Given the description of an element on the screen output the (x, y) to click on. 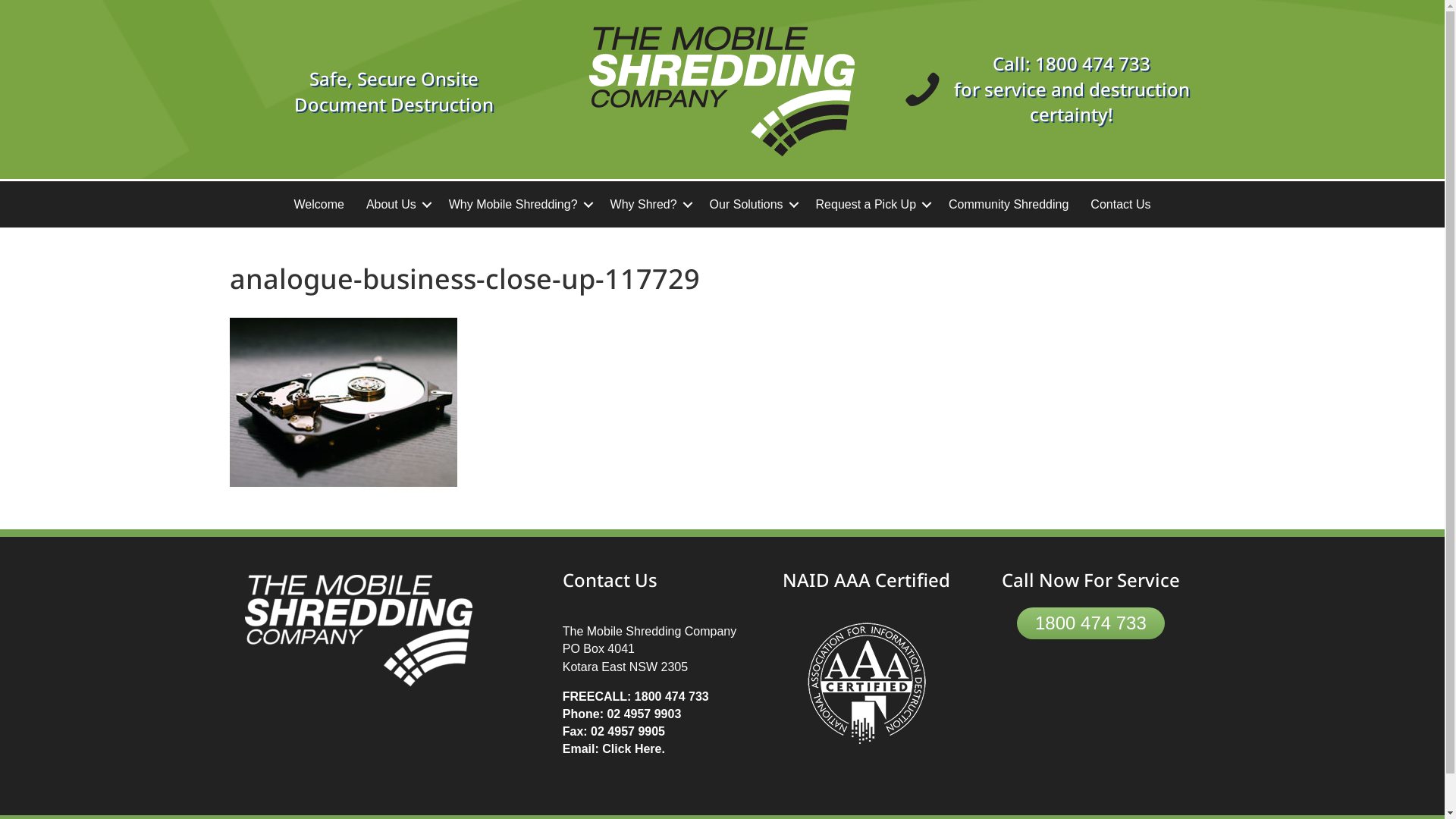
Community Shredding Element type: text (1008, 204)
1800 474 733 Element type: text (1090, 623)
msc-logo-white Element type: hover (357, 630)
Welcome Element type: text (318, 204)
Contact Us Element type: text (1120, 204)
Request a Pick Up Element type: text (871, 204)
02 4957 9903 Element type: text (643, 713)
Click Here. Element type: text (633, 748)
msc-logo Element type: hover (721, 91)
Why Mobile Shredding? Element type: text (518, 204)
1800 474 733 Element type: text (671, 696)
About Us Element type: text (396, 204)
Our Solutions Element type: text (751, 204)
NAID-AAA-CertLOGO Element type: hover (866, 682)
Call: 1800 474 733
for service and destruction certainty! Element type: text (1071, 88)
Why Shred? Element type: text (648, 204)
Call Now For Service Element type: text (1090, 579)
